Given the description of an element on the screen output the (x, y) to click on. 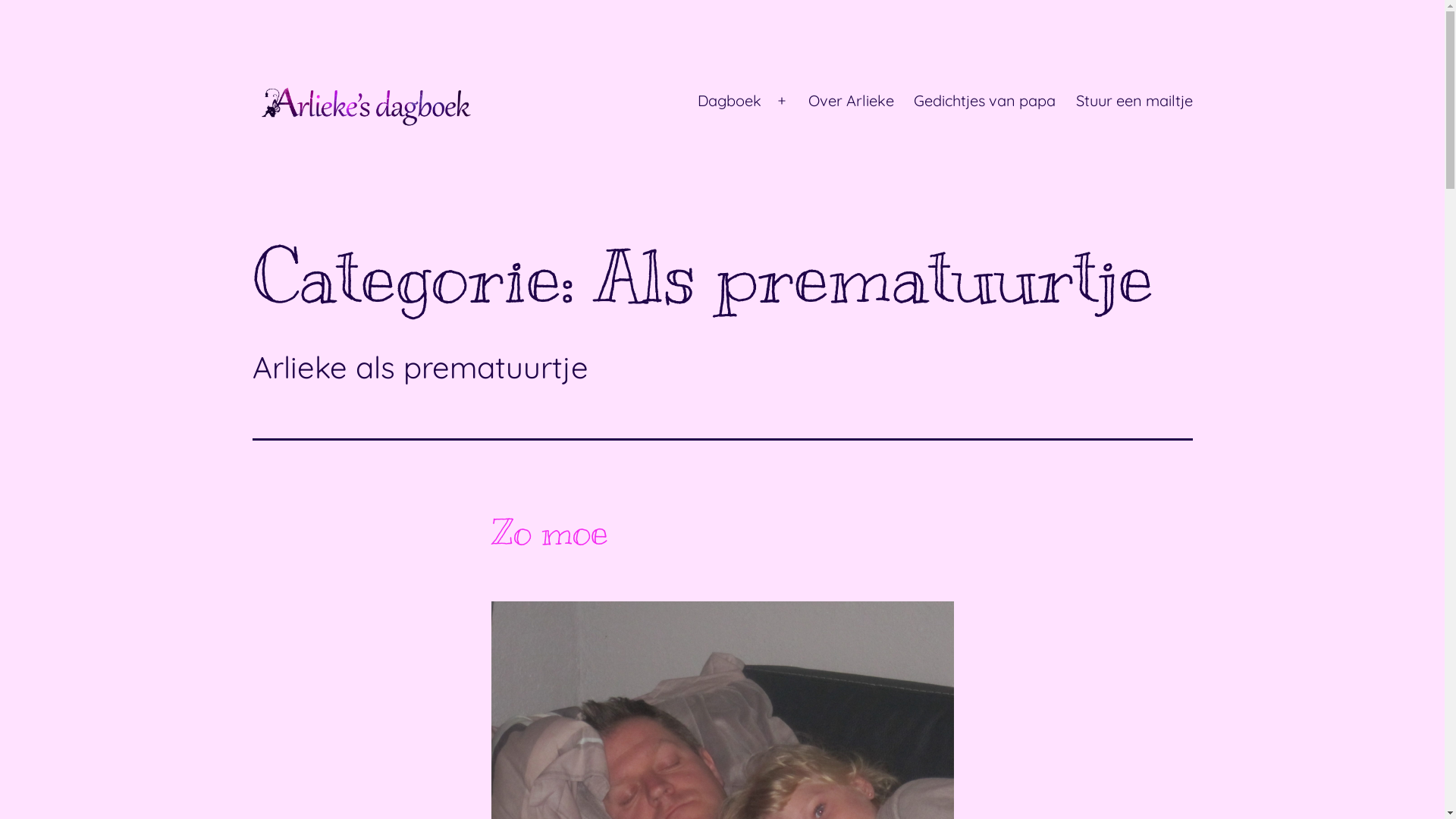
Gedichtjes van papa Element type: text (984, 100)
Stuur een mailtje Element type: text (1133, 100)
Dagboek Element type: text (728, 100)
Open menu Element type: text (781, 100)
Over Arlieke Element type: text (850, 100)
Zo moe Element type: text (549, 532)
